Given the description of an element on the screen output the (x, y) to click on. 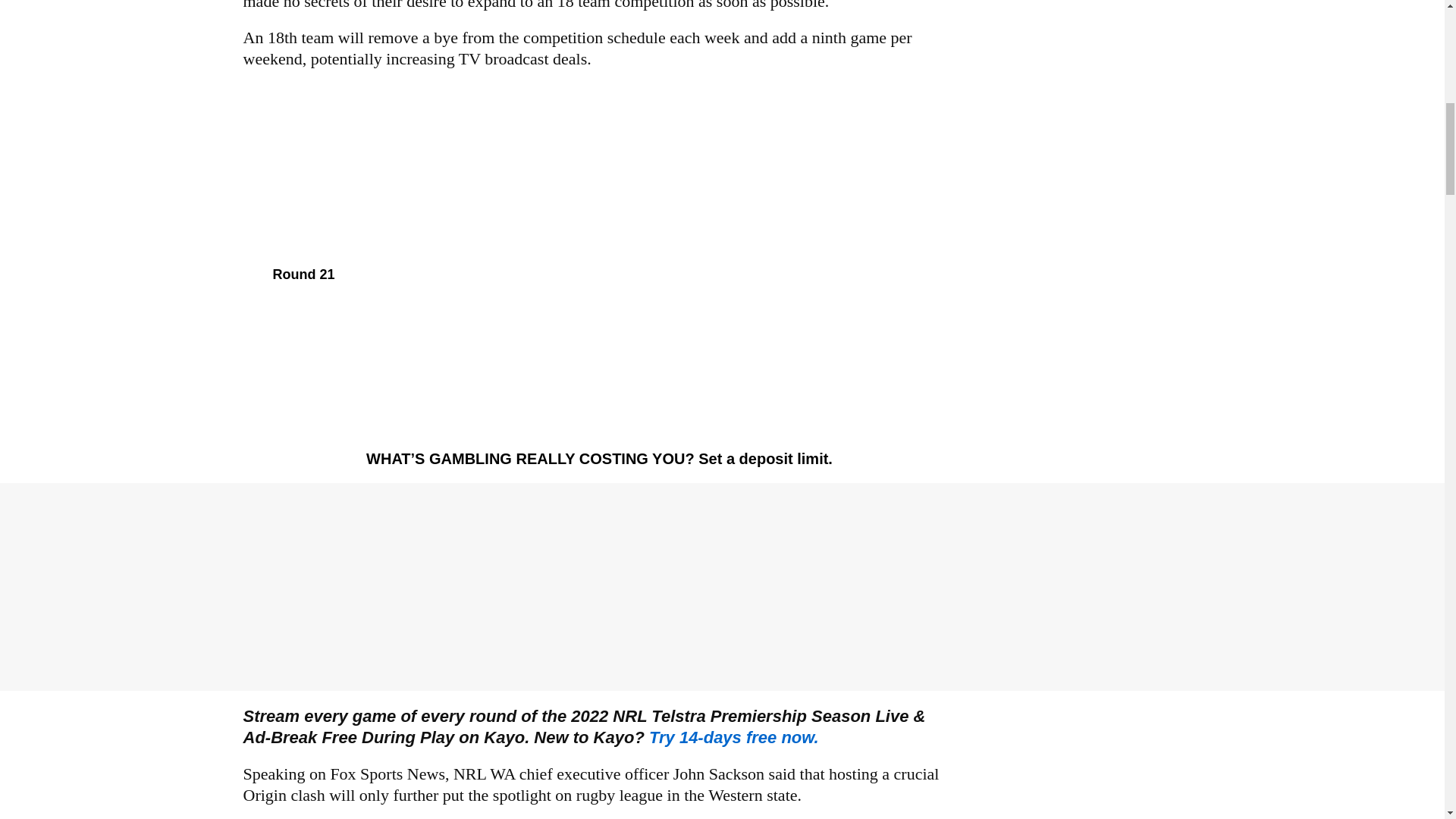
Try 14-days free now. (733, 737)
servedby.flashtalking.com (733, 737)
